Given the description of an element on the screen output the (x, y) to click on. 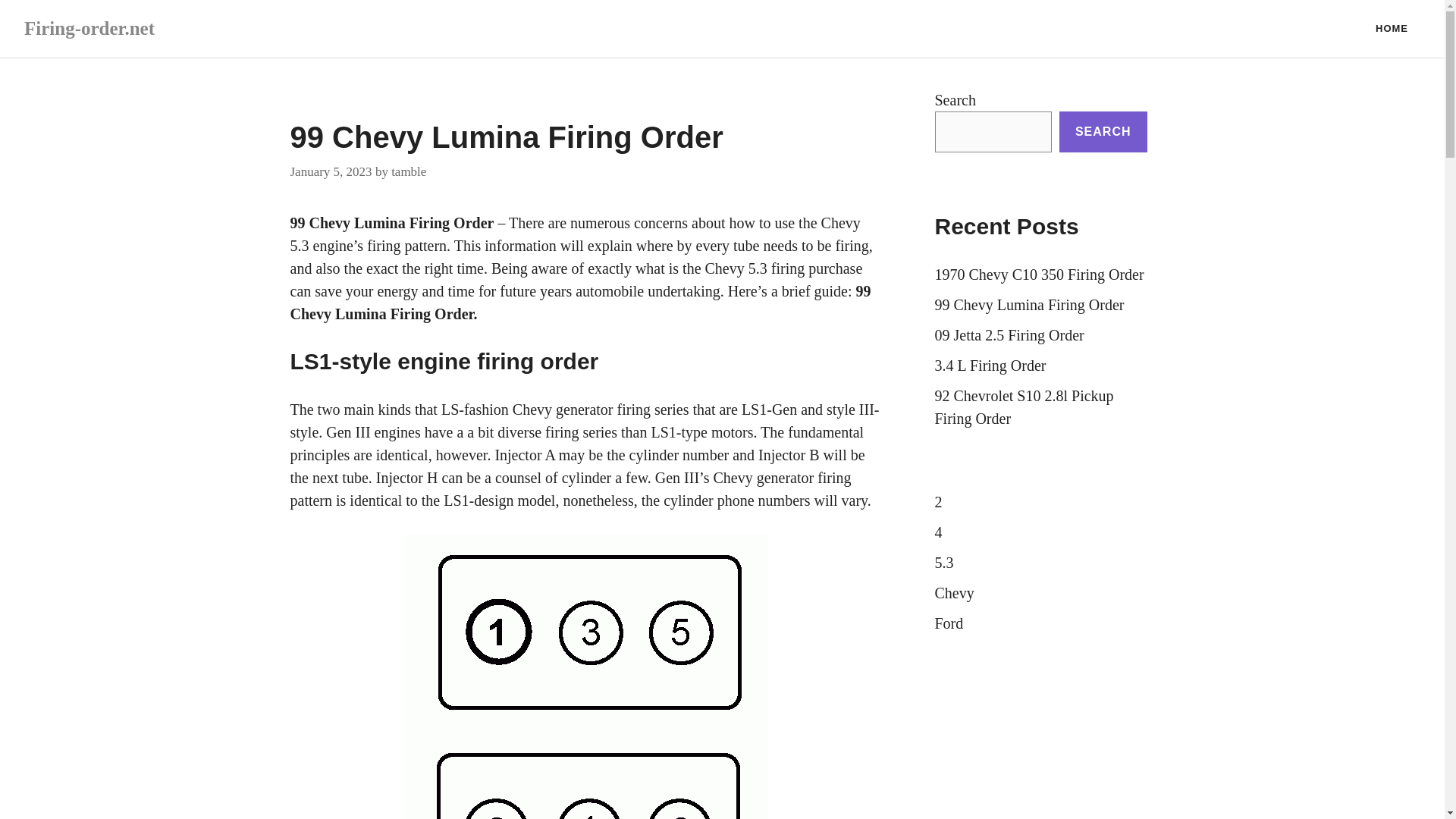
09 Jetta 2.5 Firing Order (1008, 334)
HOME (1391, 28)
1970 Chevy C10 350 Firing Order (1038, 274)
3.4 L Firing Order (989, 365)
Chevy (954, 592)
Ford (948, 623)
View all posts by tamble (408, 170)
99 Chevy Lumina Firing Order (1029, 304)
SEARCH (1103, 131)
tamble (408, 170)
99 Chevy Lumina Firing Order (391, 222)
Firing-order.net (89, 28)
5.3 (943, 562)
92 Chevrolet S10 2.8l Pickup Firing Order (1023, 406)
